Given the description of an element on the screen output the (x, y) to click on. 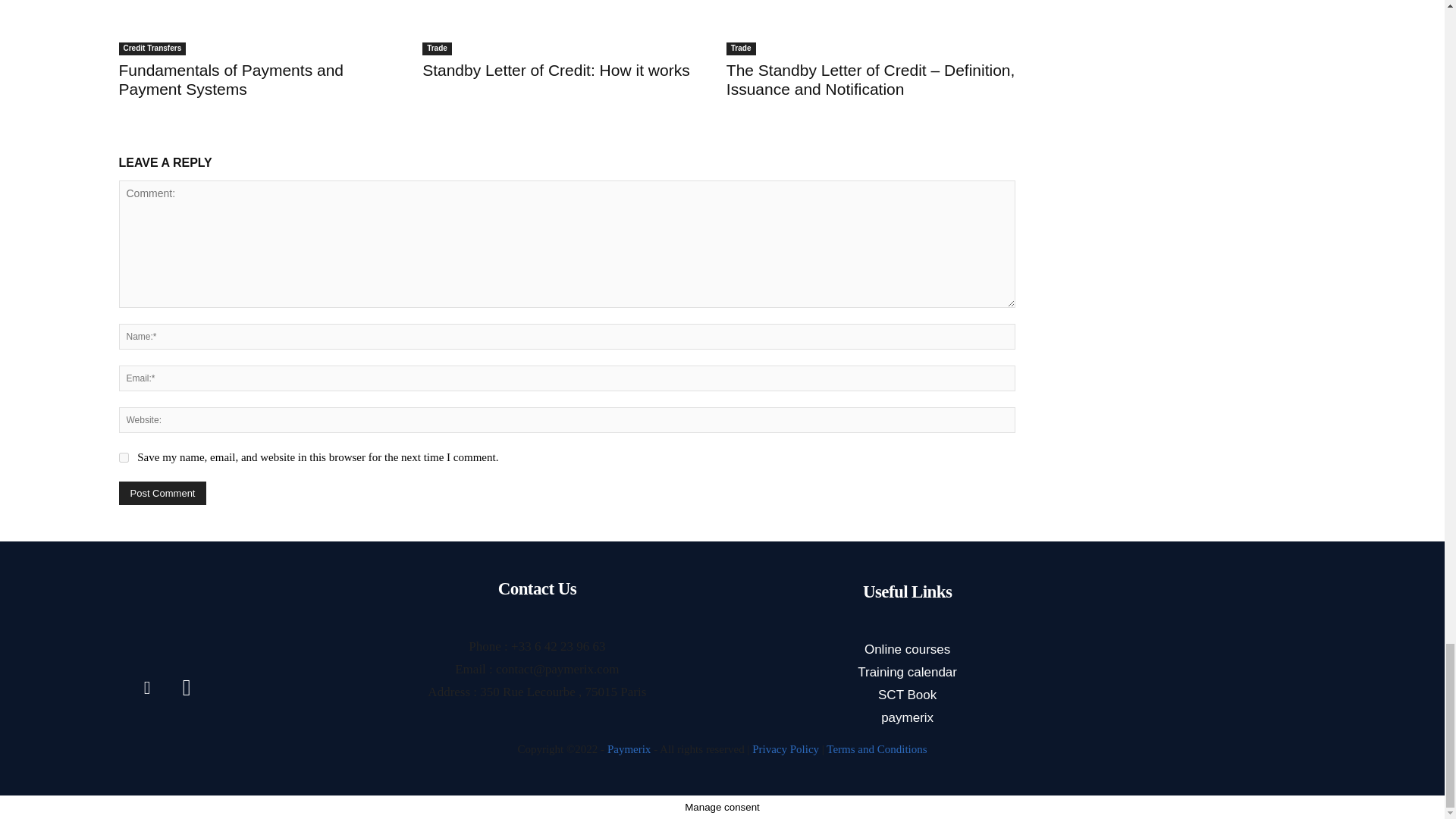
Fundamentals of Payments and Payment Systems (262, 27)
Credit Transfers (151, 48)
Standby Letter of Credit: How it works (566, 27)
Post Comment (161, 493)
yes (122, 457)
Standby Letter of Credit: How it works (555, 69)
Fundamentals of Payments and Payment Systems (230, 79)
